Given the description of an element on the screen output the (x, y) to click on. 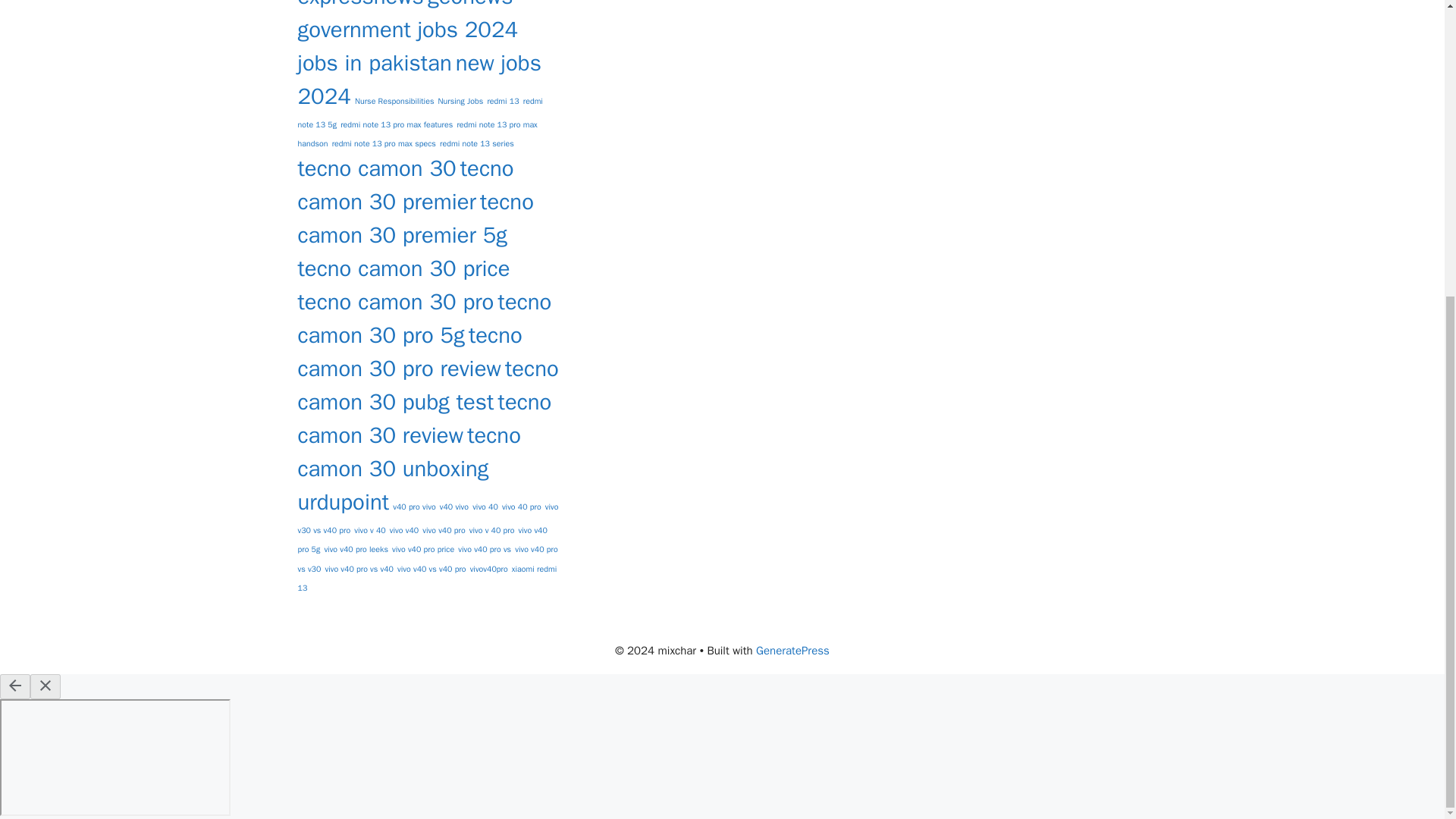
redmi note 13 pro max features (396, 124)
geonews (470, 5)
tecno camon 30 pro (395, 302)
new jobs 2024 (418, 79)
Nursing Jobs (460, 101)
tecno camon 30 review (424, 418)
tecno camon 30 pubg test (427, 385)
redmi note 13 5g (419, 112)
tecno camon 30 unboxing (408, 452)
redmi 13 (502, 101)
tecno camon 30 premier 5g (414, 218)
expressnews (360, 5)
jobs in pakistan (374, 62)
government jobs 2024 (407, 29)
redmi note 13 series (476, 143)
